Given the description of an element on the screen output the (x, y) to click on. 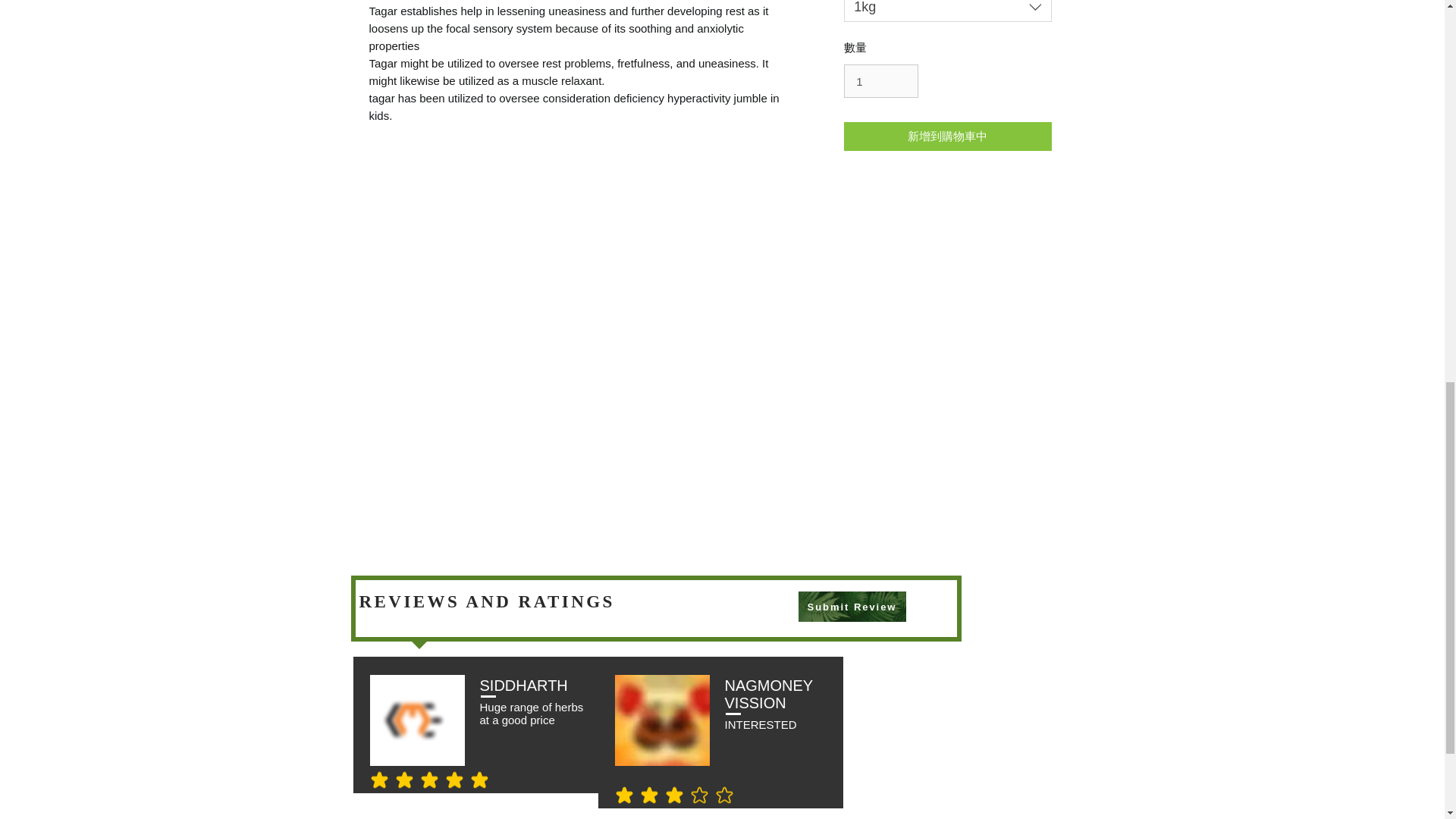
1kg (947, 11)
1 (881, 80)
Submit Review (851, 606)
MAHADEV LOGO.png (416, 719)
